Given the description of an element on the screen output the (x, y) to click on. 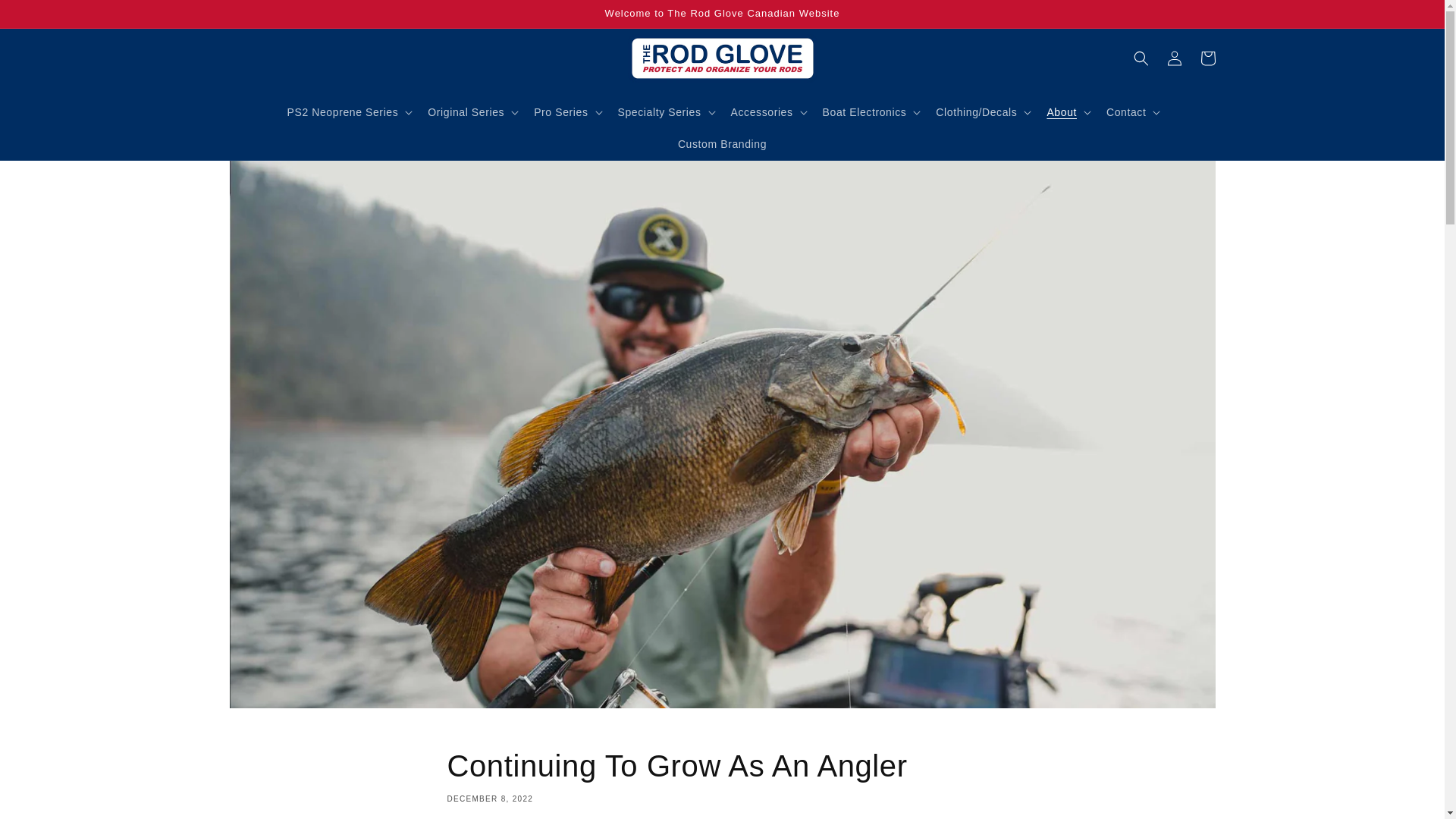
Skip to content (45, 17)
